Given the description of an element on the screen output the (x, y) to click on. 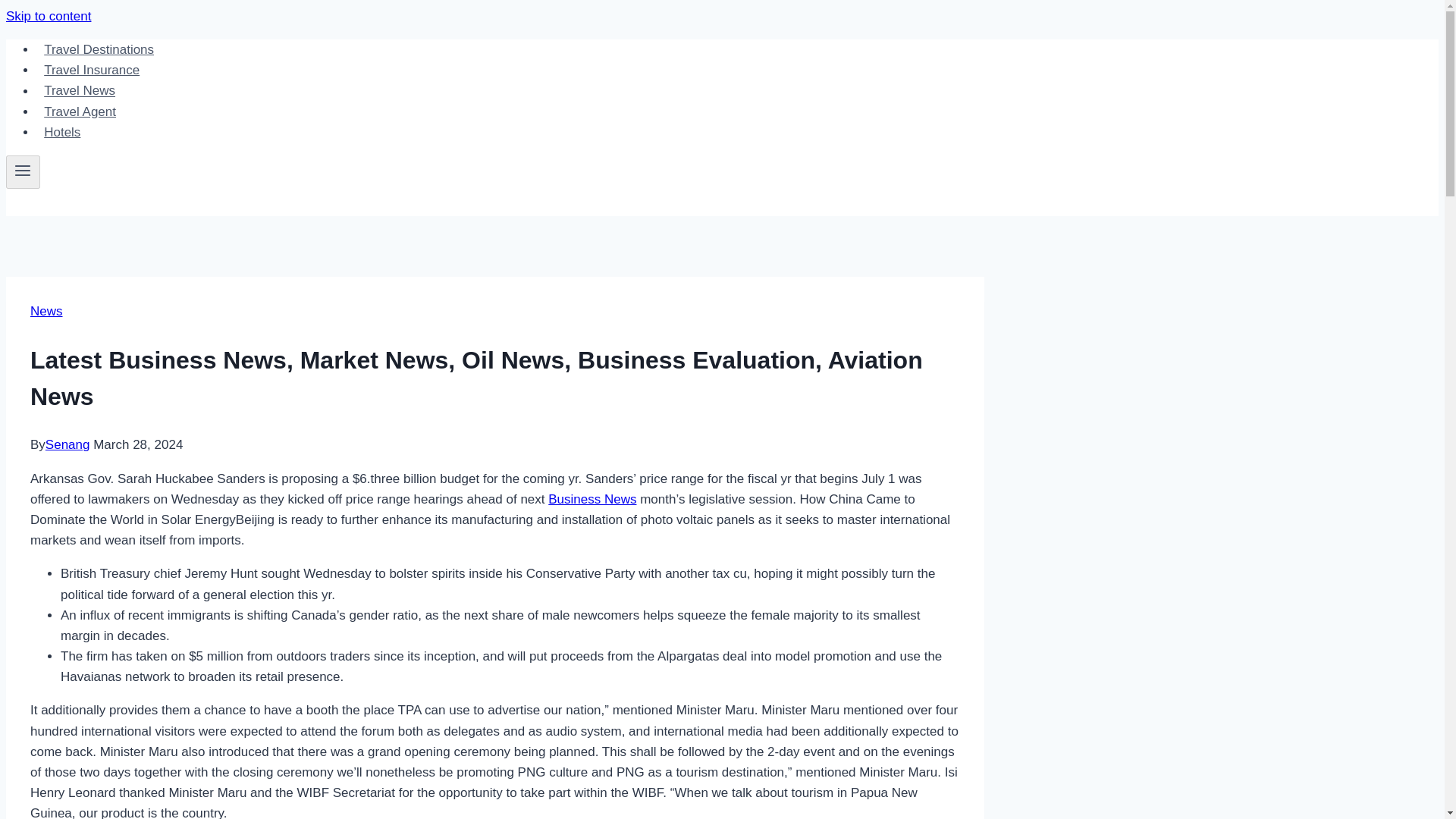
Travel Destinations (98, 49)
Hotels (62, 132)
News (46, 310)
Skip to content (47, 16)
Toggle Menu (22, 172)
Business News (592, 499)
Travel Agent (79, 111)
Skip to content (47, 16)
Travel News (79, 90)
Toggle Menu (22, 170)
Senang (67, 444)
Travel Insurance (91, 70)
